Given the description of an element on the screen output the (x, y) to click on. 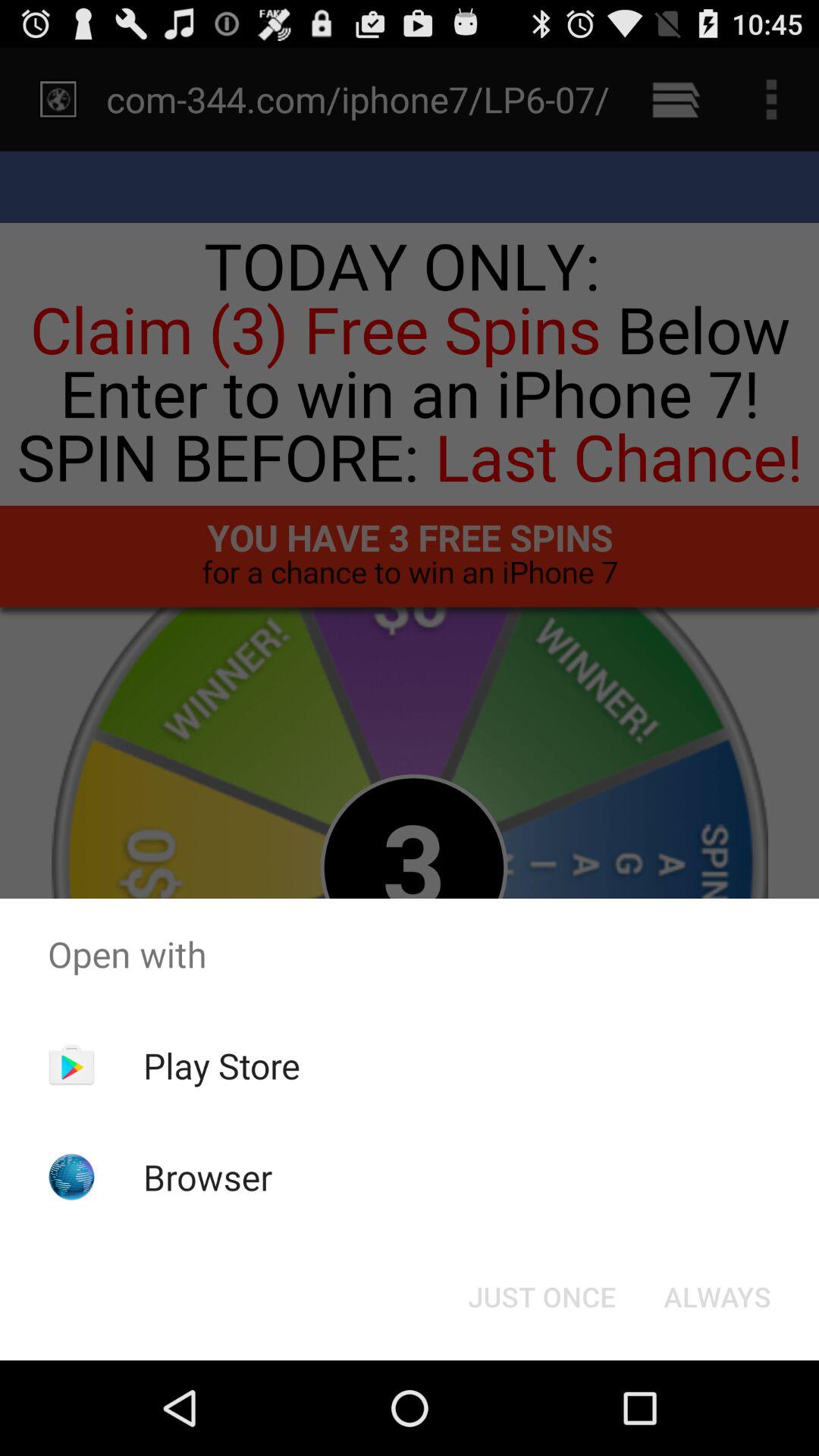
tap the just once button (541, 1296)
